Given the description of an element on the screen output the (x, y) to click on. 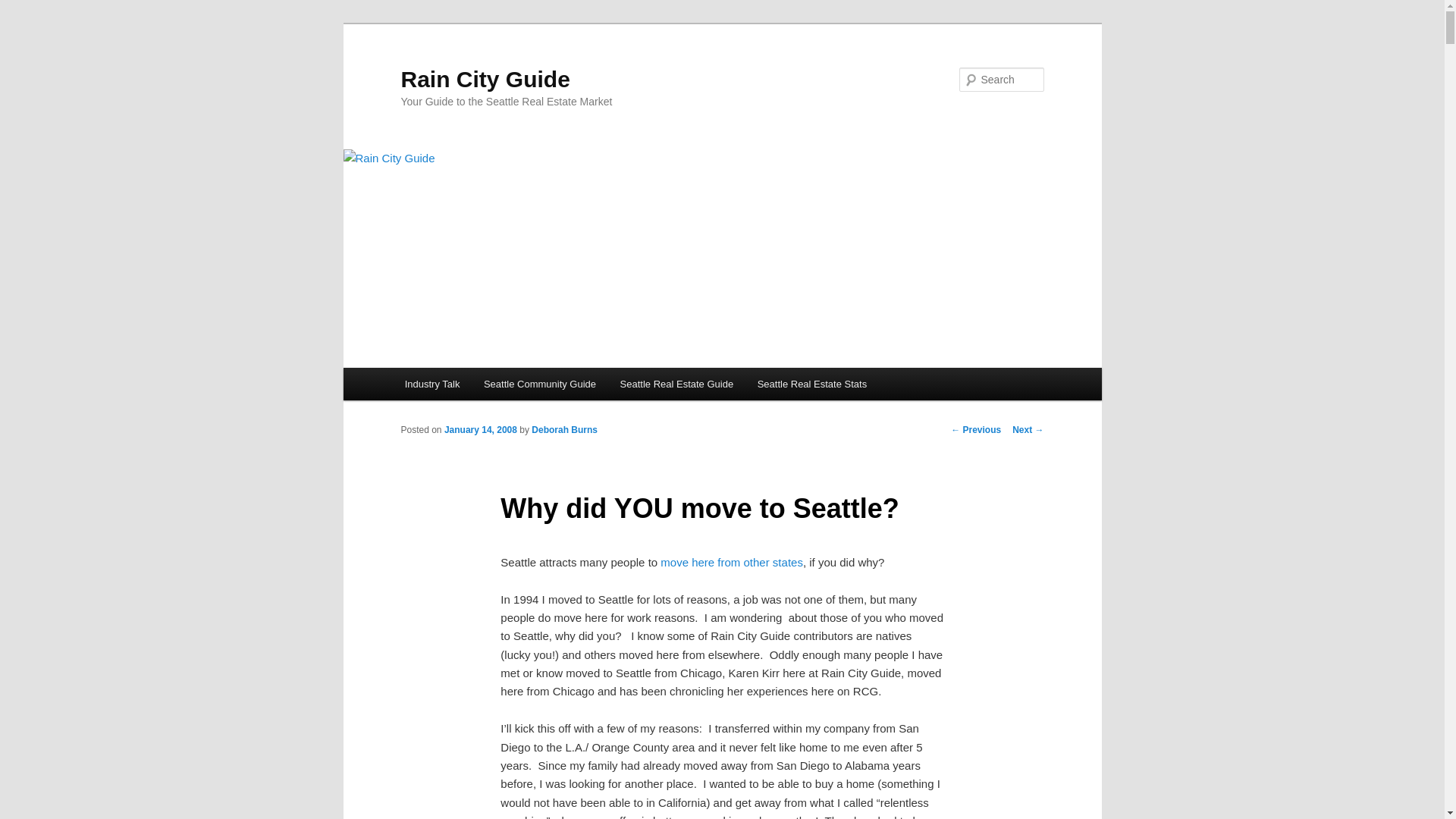
Rain City Guide (484, 78)
12:15 am (480, 429)
Search (24, 8)
View all posts by Deborah Burns (563, 429)
Seattle PI article on Seattle's fast growing population. (732, 562)
Industry Talk (432, 383)
